Given the description of an element on the screen output the (x, y) to click on. 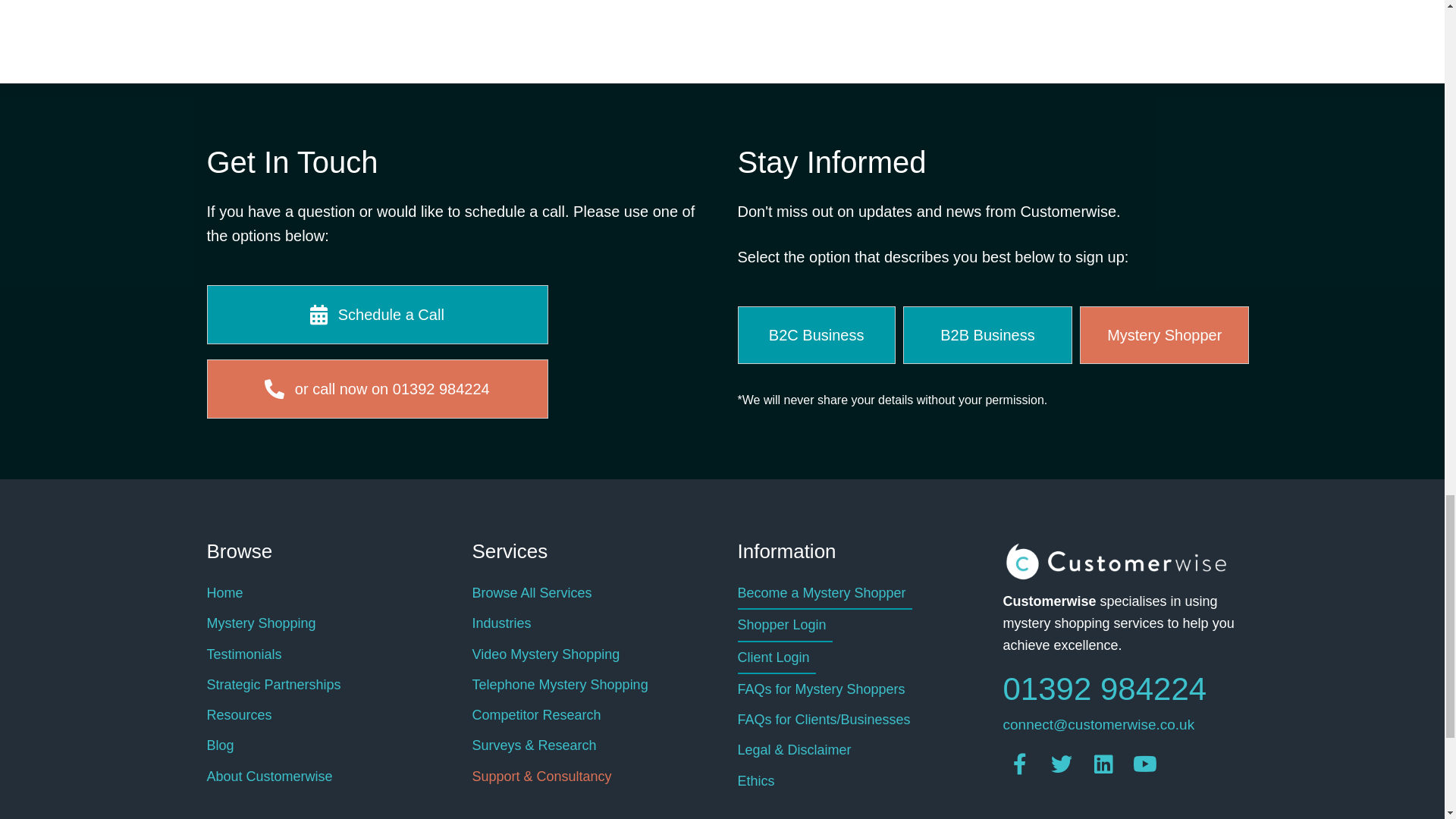
customer-wise-logo-white-web (1116, 561)
Twitter (1061, 764)
YouTube (1144, 764)
LinkedIn (1102, 764)
